Given the description of an element on the screen output the (x, y) to click on. 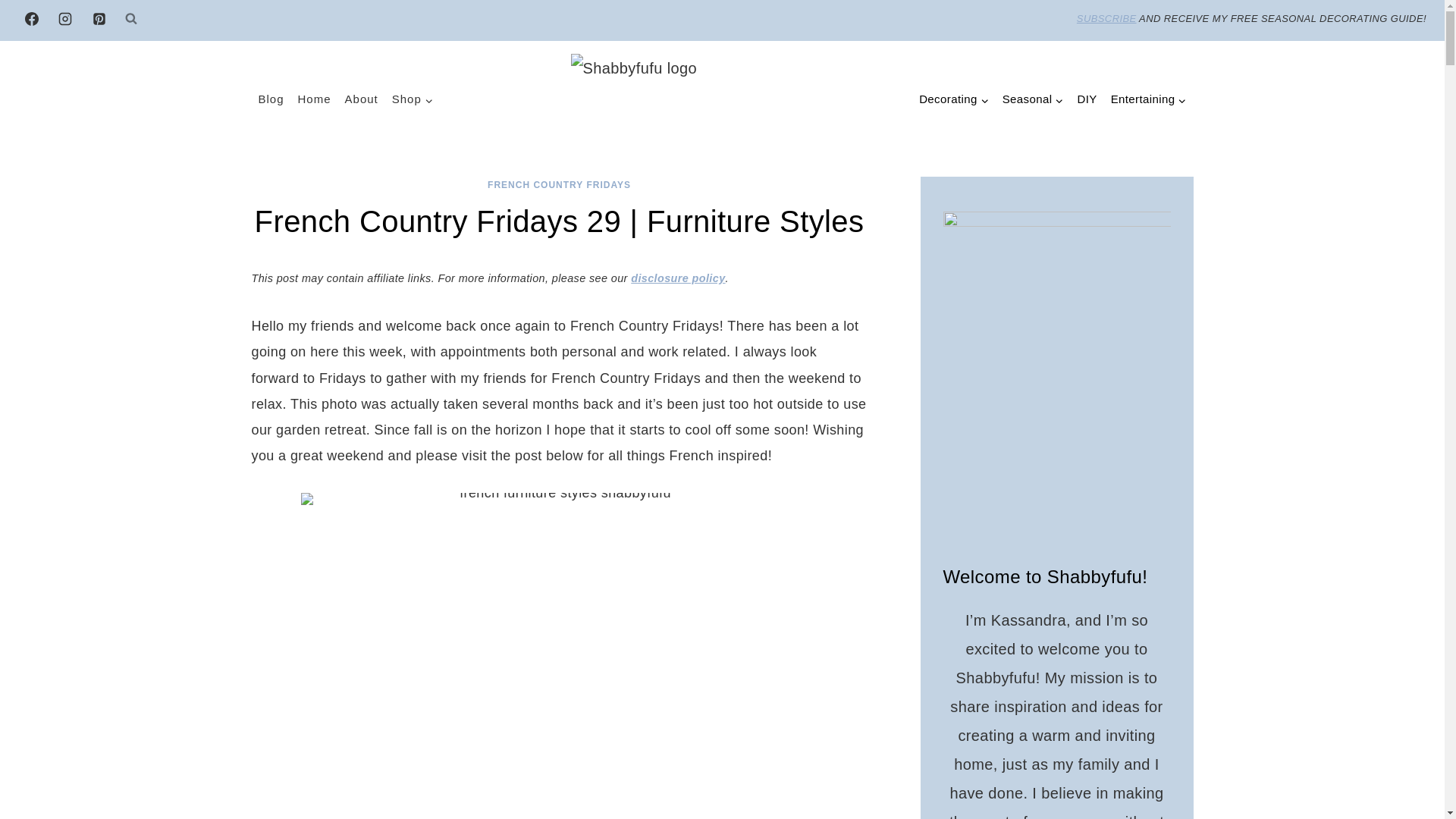
FRENCH COUNTRY FRIDAYS (558, 184)
disclosure policy (677, 277)
Entertaining (1148, 99)
SUBSCRIBE (1107, 18)
DIY (1086, 99)
About (361, 99)
Home (314, 99)
Seasonal (1032, 99)
Decorating (953, 99)
Shop (412, 99)
